Given the description of an element on the screen output the (x, y) to click on. 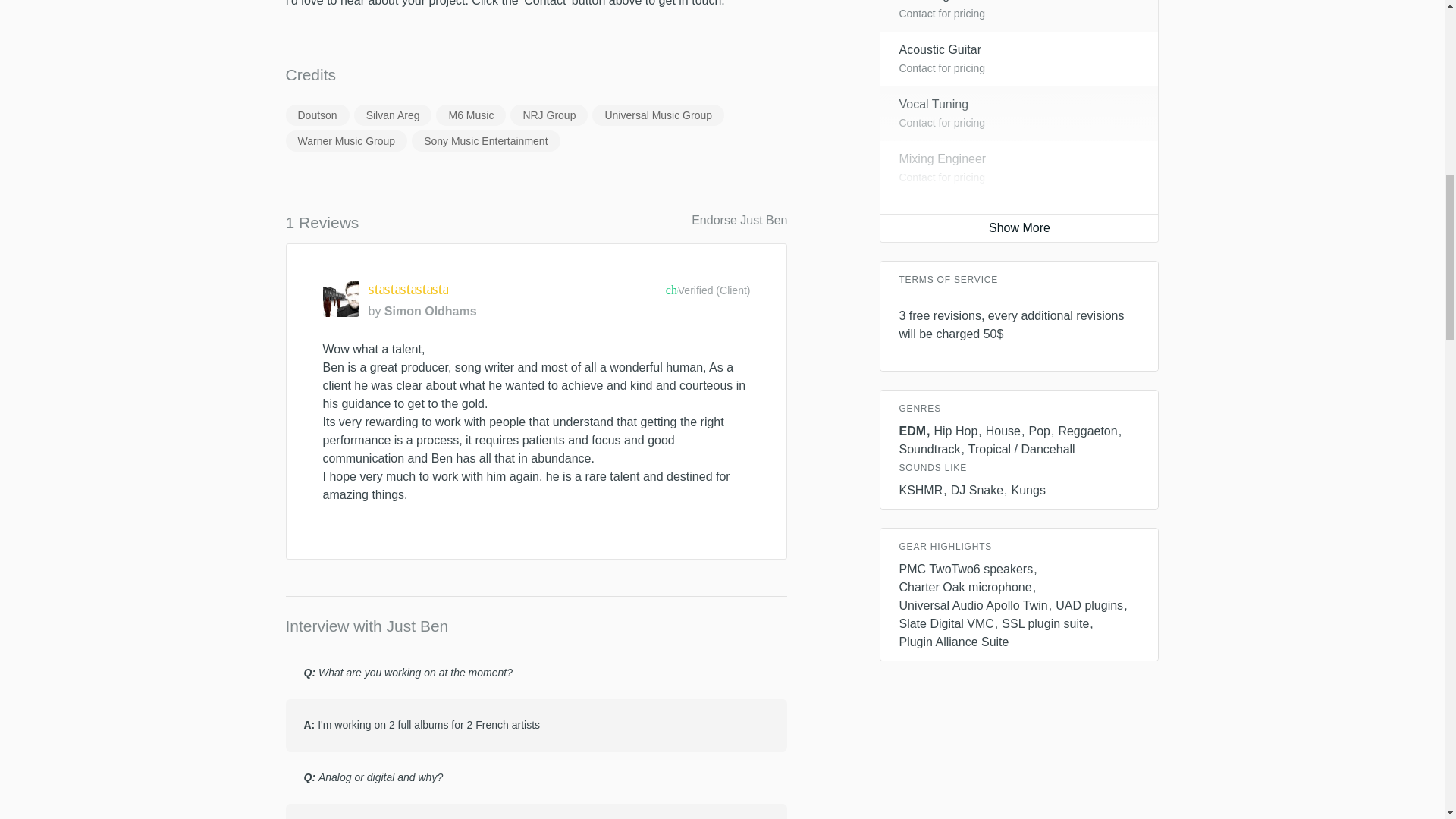
Reviewed as a client (708, 292)
